Given the description of an element on the screen output the (x, y) to click on. 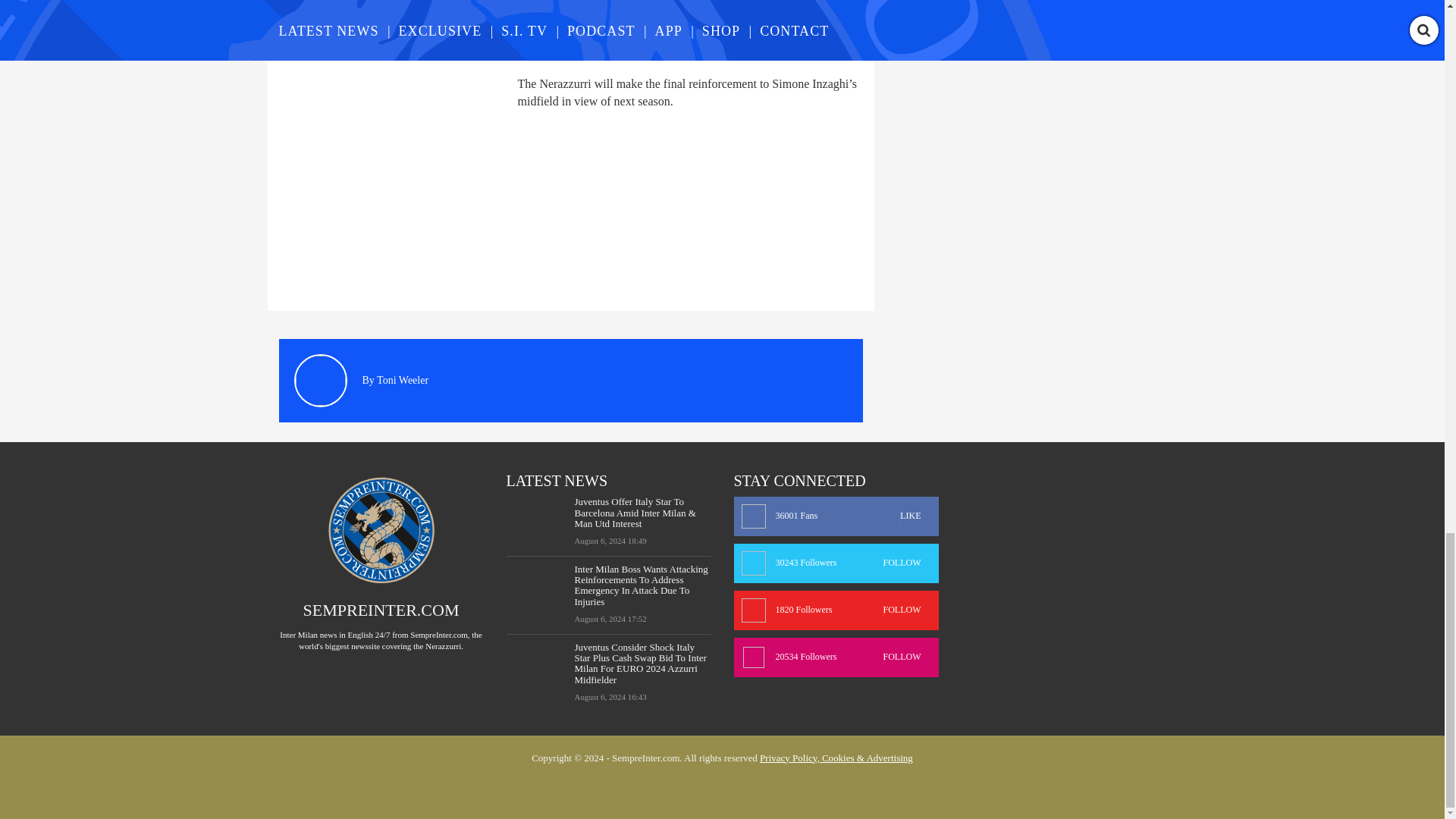
YouTube video player (491, 29)
Toni Weeler (402, 379)
View more articles by Toni Weeler (402, 379)
SEMPREINTER.COM (381, 609)
